Given the description of an element on the screen output the (x, y) to click on. 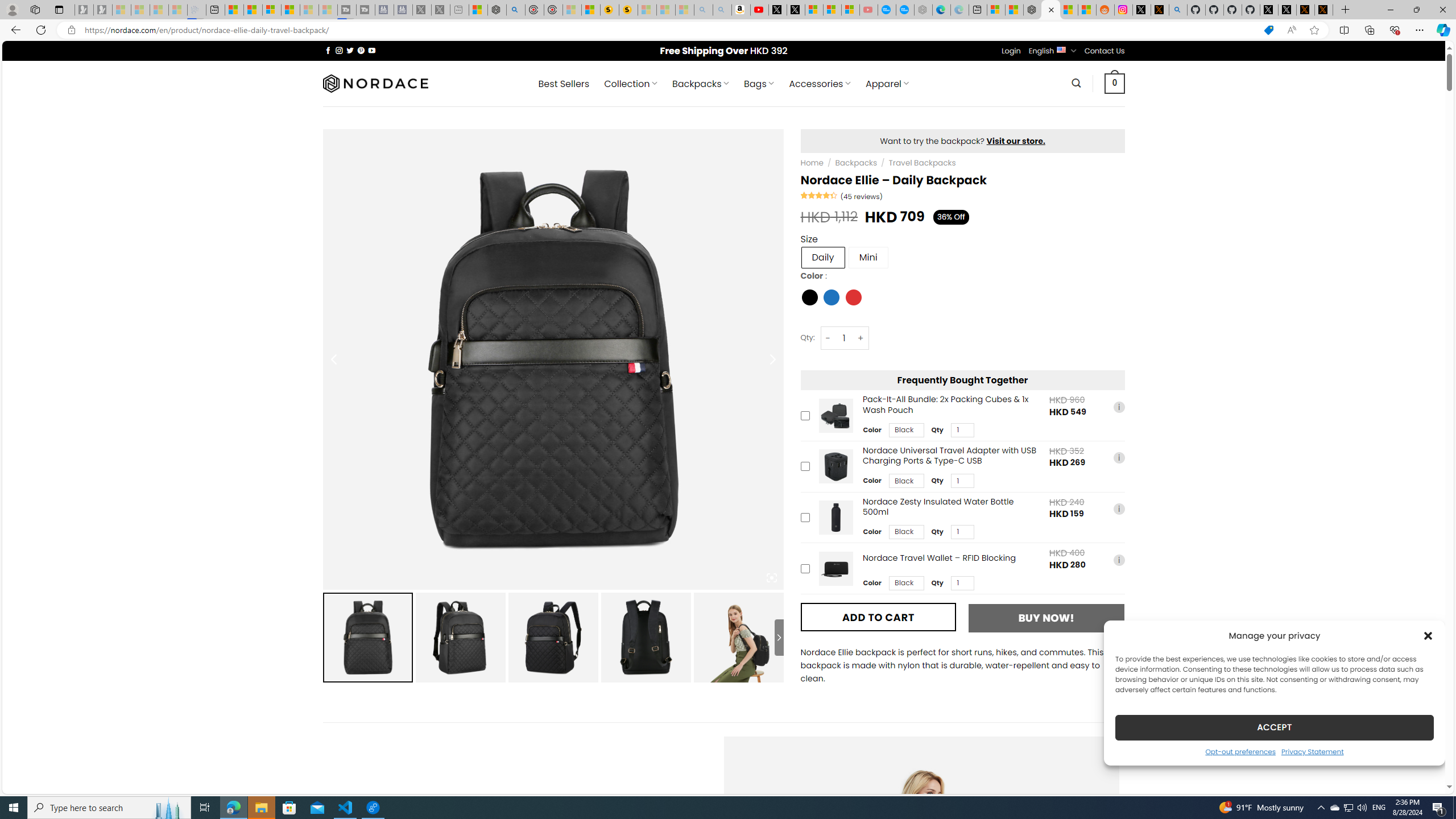
amazon - Search - Sleeping (702, 9)
Nordace - Best Sellers (1032, 9)
poe - Search (515, 9)
Pack-It-All Bundle: 2x Packing Cubes & 1x Wash Pouch (835, 415)
Class: cmplz-close (1428, 635)
github - Search (1178, 9)
Opinion: Op-Ed and Commentary - USA TODAY (887, 9)
